Given the description of an element on the screen output the (x, y) to click on. 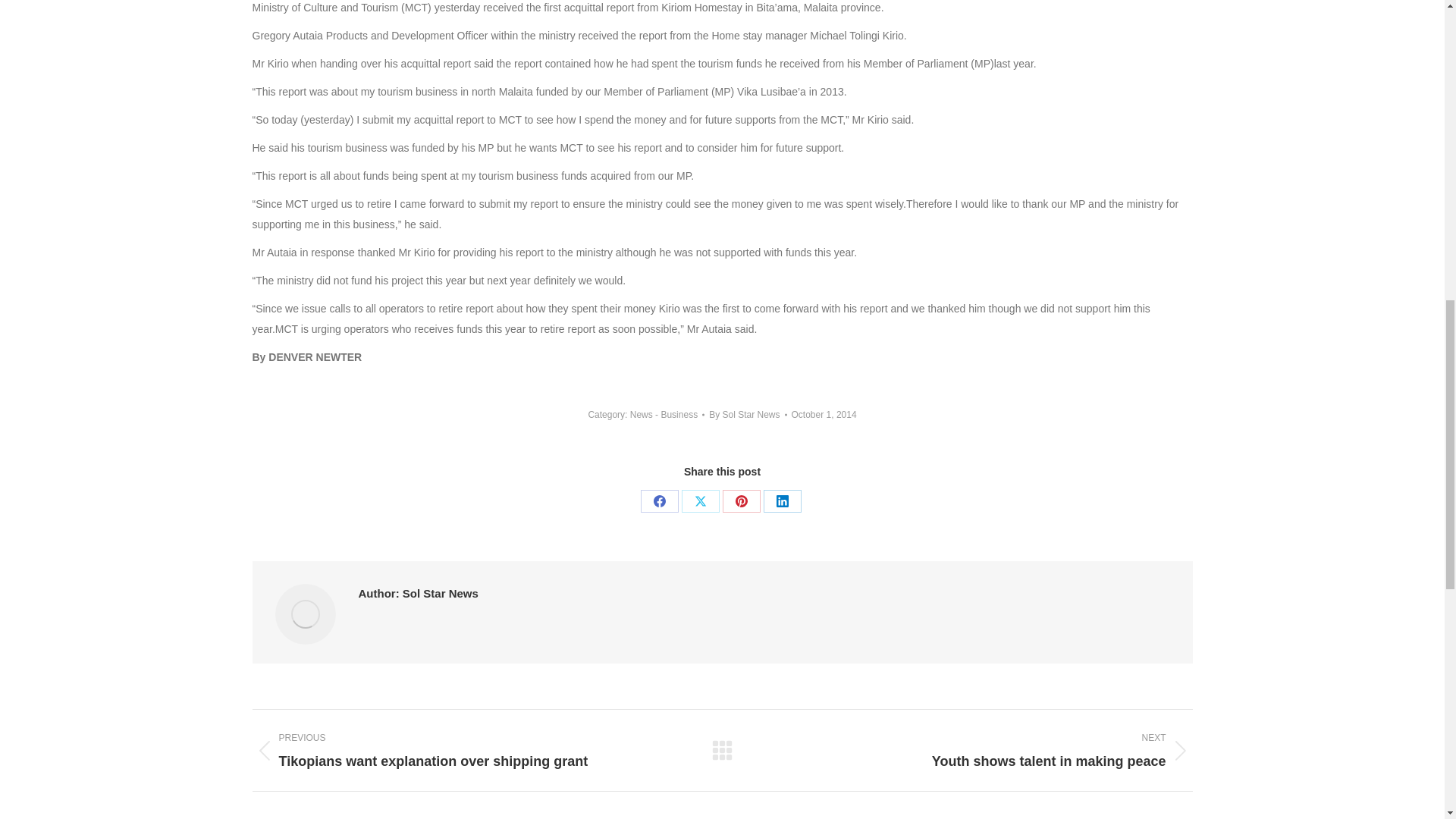
News - Business (663, 414)
2:45 am (824, 414)
LinkedIn (781, 500)
Facebook (659, 500)
View all posts by Sol Star News (747, 414)
X (700, 500)
Pinterest (741, 500)
By Sol Star News (747, 414)
